Given the description of an element on the screen output the (x, y) to click on. 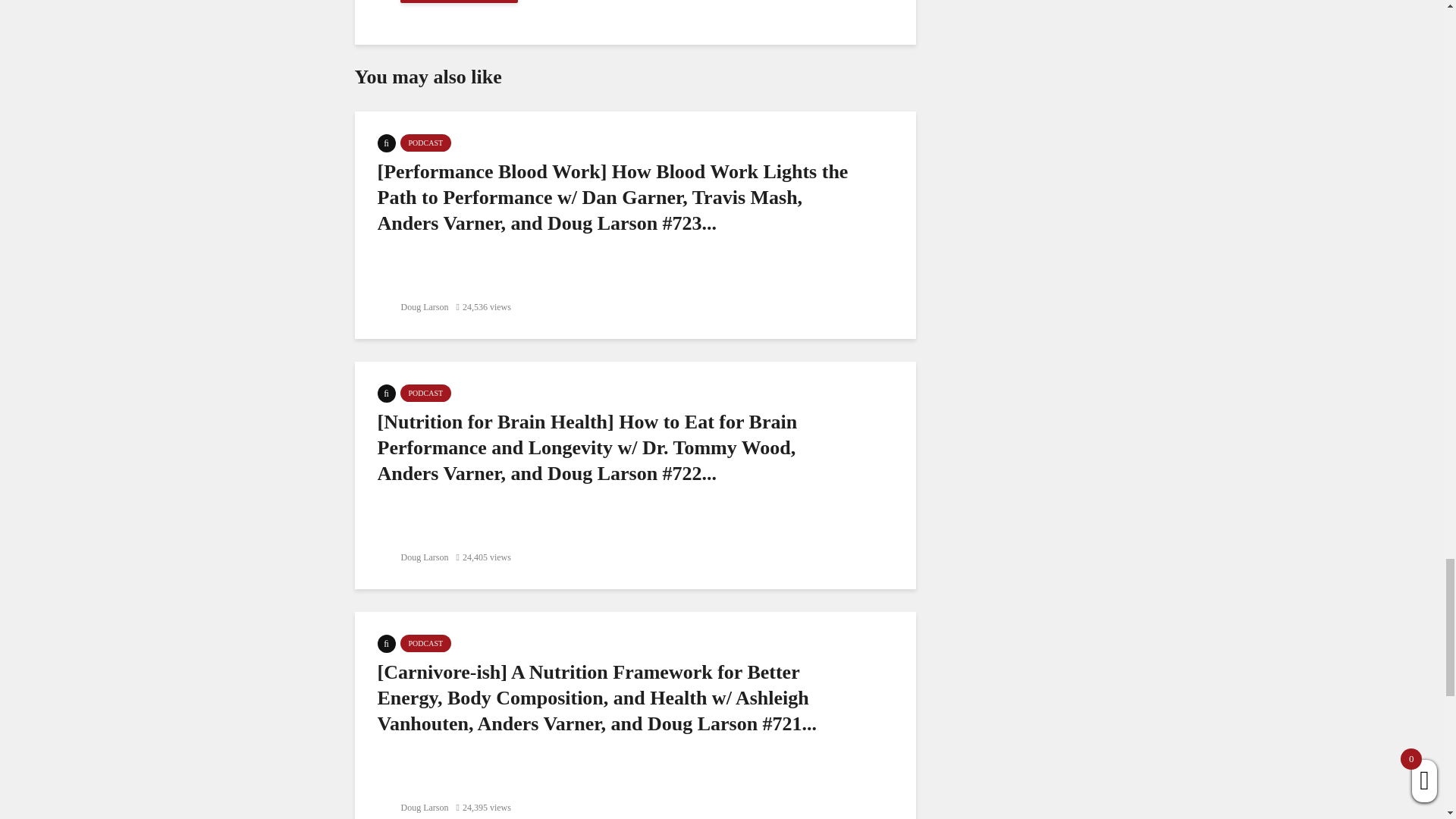
Submit Comment (459, 1)
Submit Comment (459, 1)
PODCAST (425, 393)
Doug Larson (412, 307)
PODCAST (425, 142)
